Given the description of an element on the screen output the (x, y) to click on. 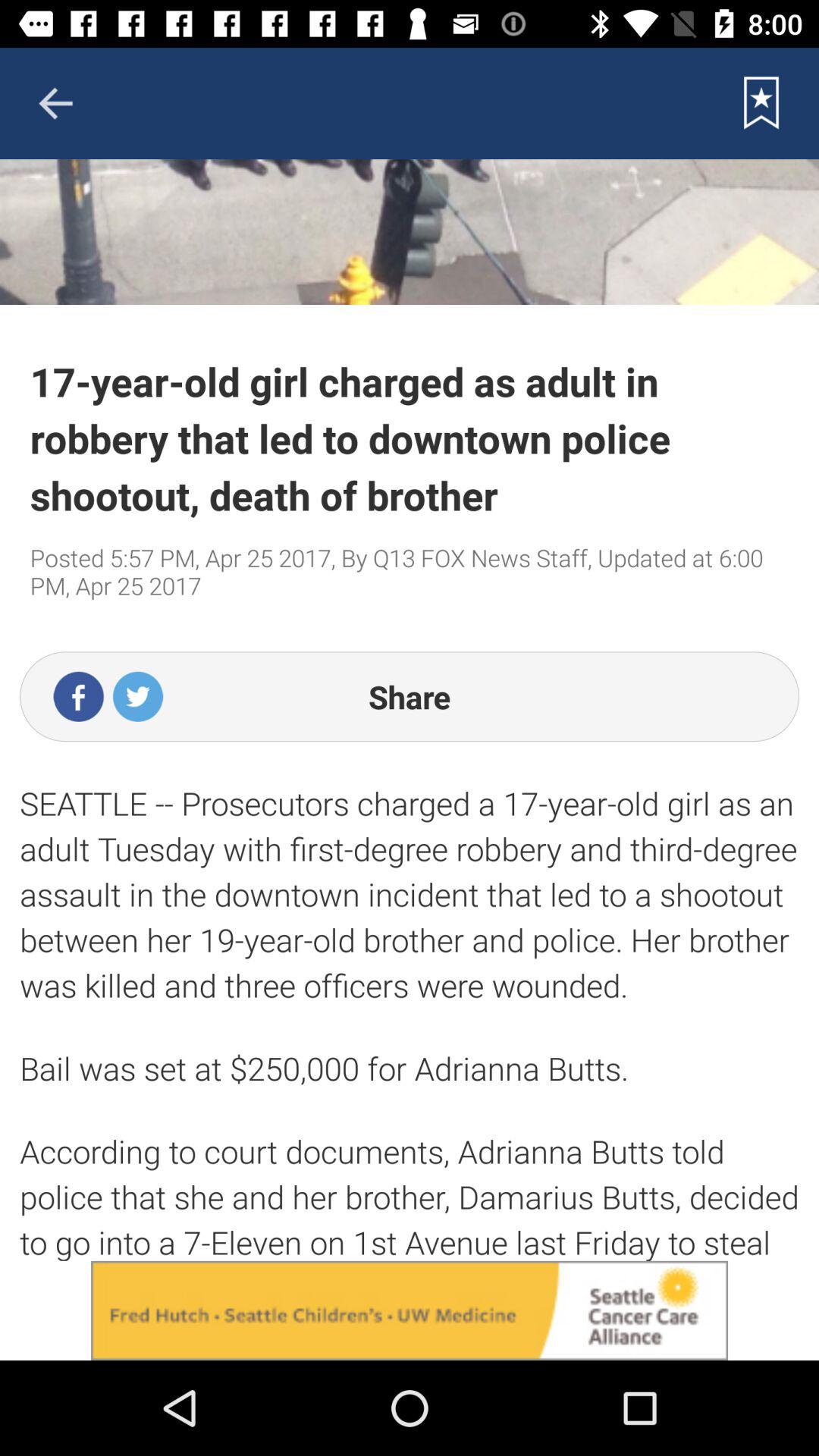
go to save (761, 102)
